Given the description of an element on the screen output the (x, y) to click on. 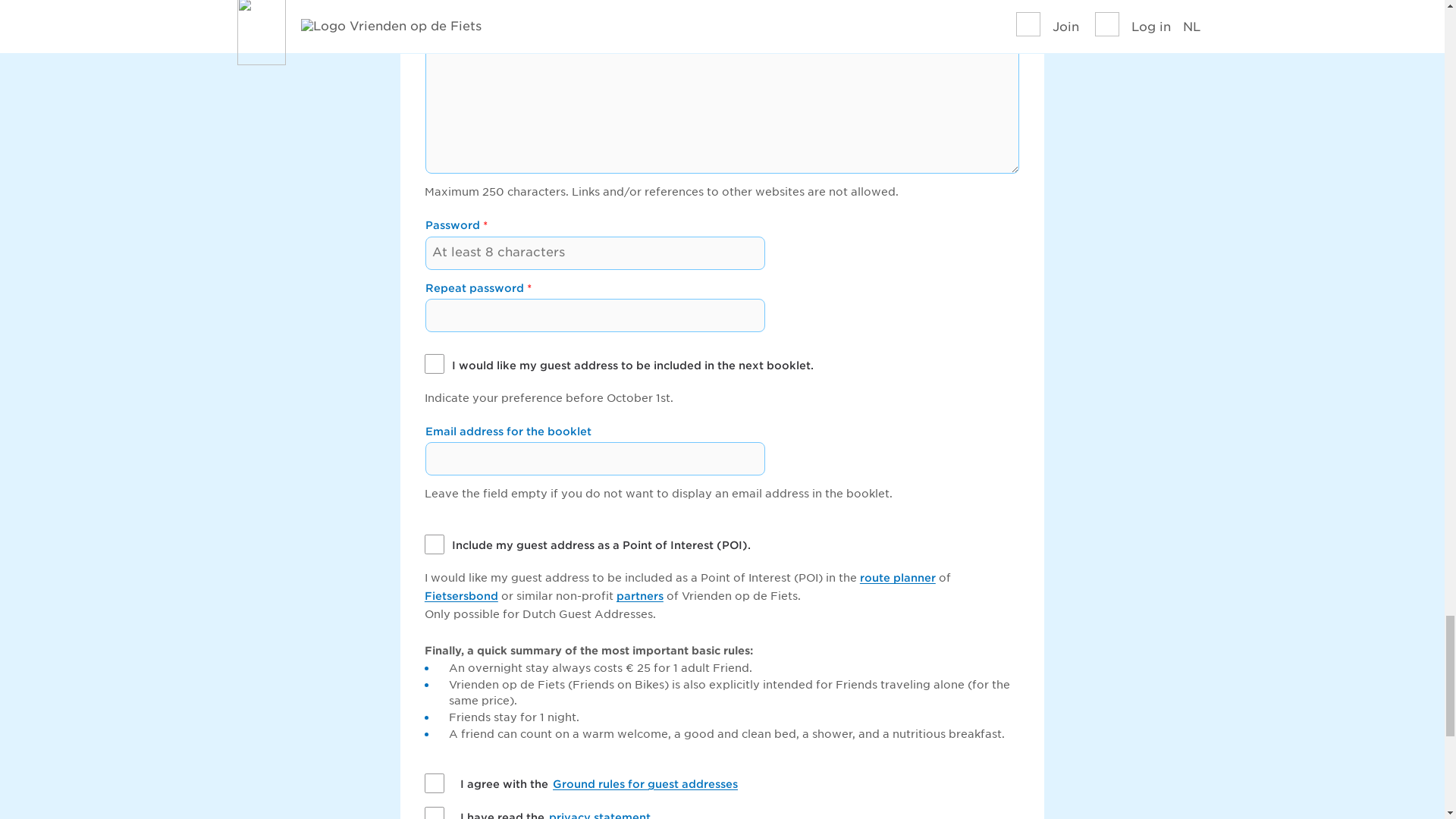
privacy statement (599, 815)
Ground rules for guest addresses (645, 784)
Fietsersbond (461, 594)
route planner (898, 576)
partners (639, 594)
